Given the description of an element on the screen output the (x, y) to click on. 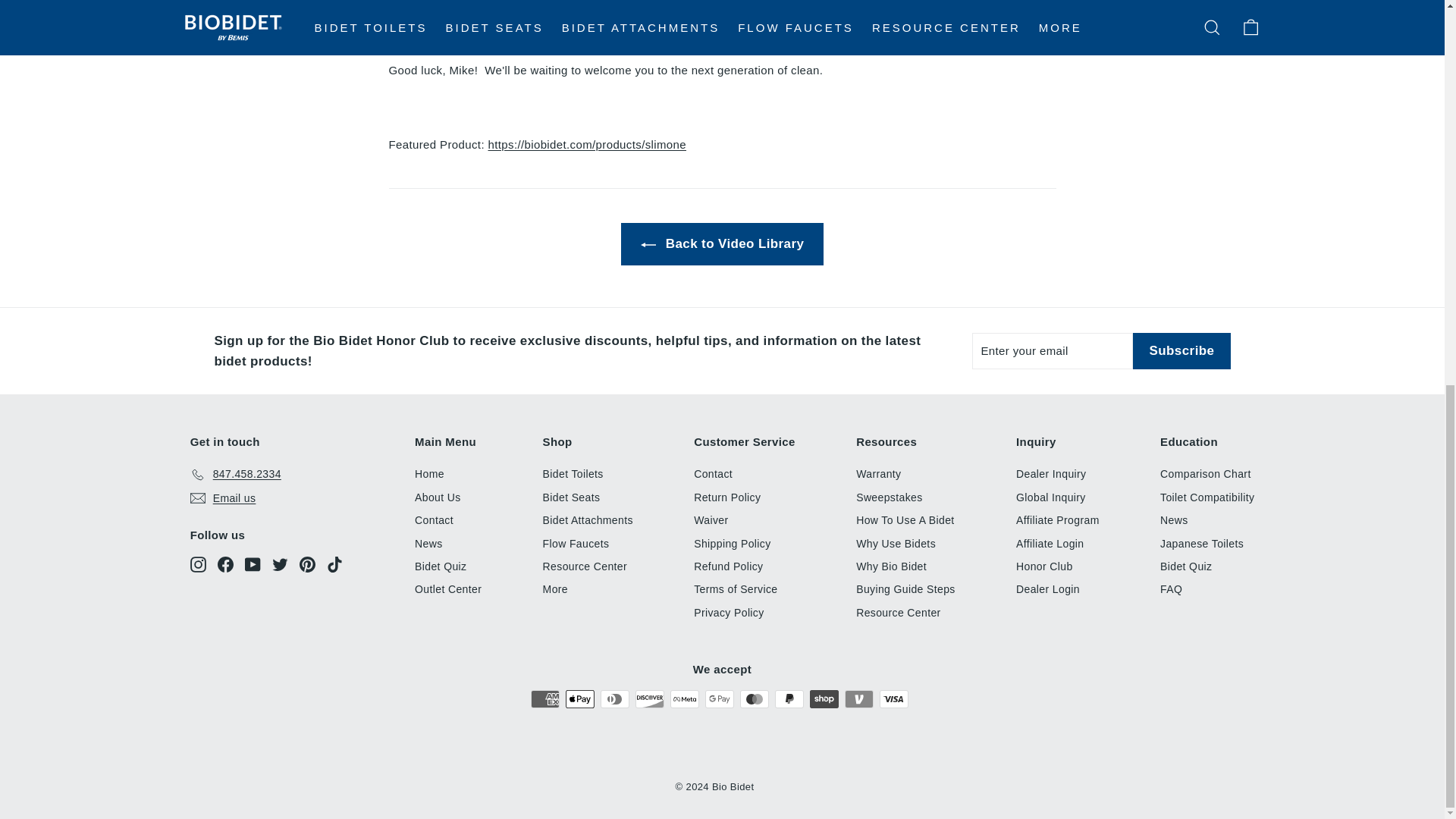
Mastercard (753, 699)
Bio Bidet on Facebook (224, 564)
Bio Bidet on TikTok (334, 564)
Google Pay (718, 699)
Meta Pay (683, 699)
Shop Pay (823, 699)
Diners Club (613, 699)
American Express (545, 699)
Bio Bidet on Instagram (198, 564)
Bio Bidet on Pinterest (307, 564)
Discover (648, 699)
PayPal (788, 699)
Bio Bidet on Twitter (280, 564)
Bio Bidet on YouTube (252, 564)
Apple Pay (580, 699)
